Given the description of an element on the screen output the (x, y) to click on. 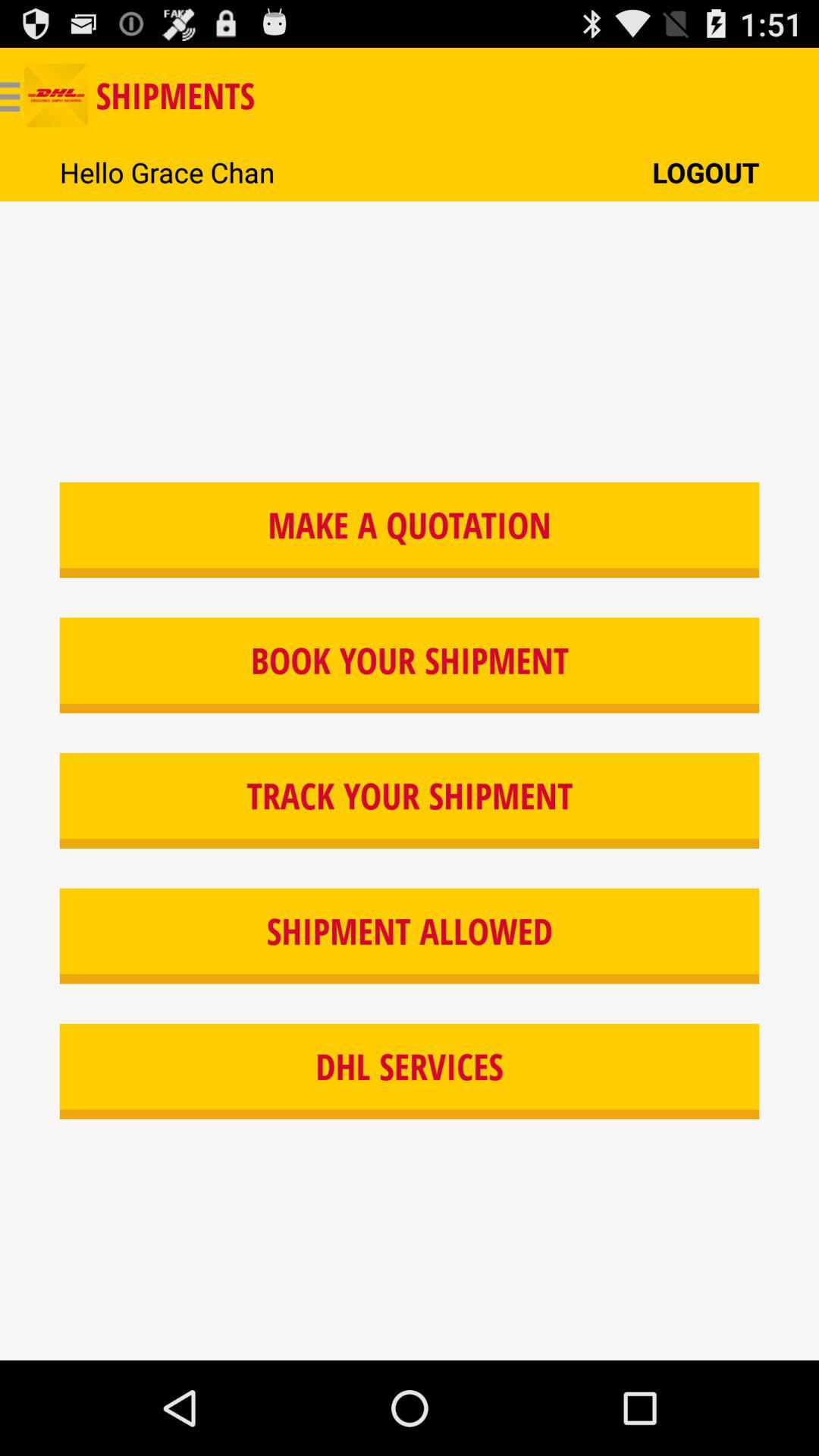
flip to the make a quotation (409, 529)
